Given the description of an element on the screen output the (x, y) to click on. 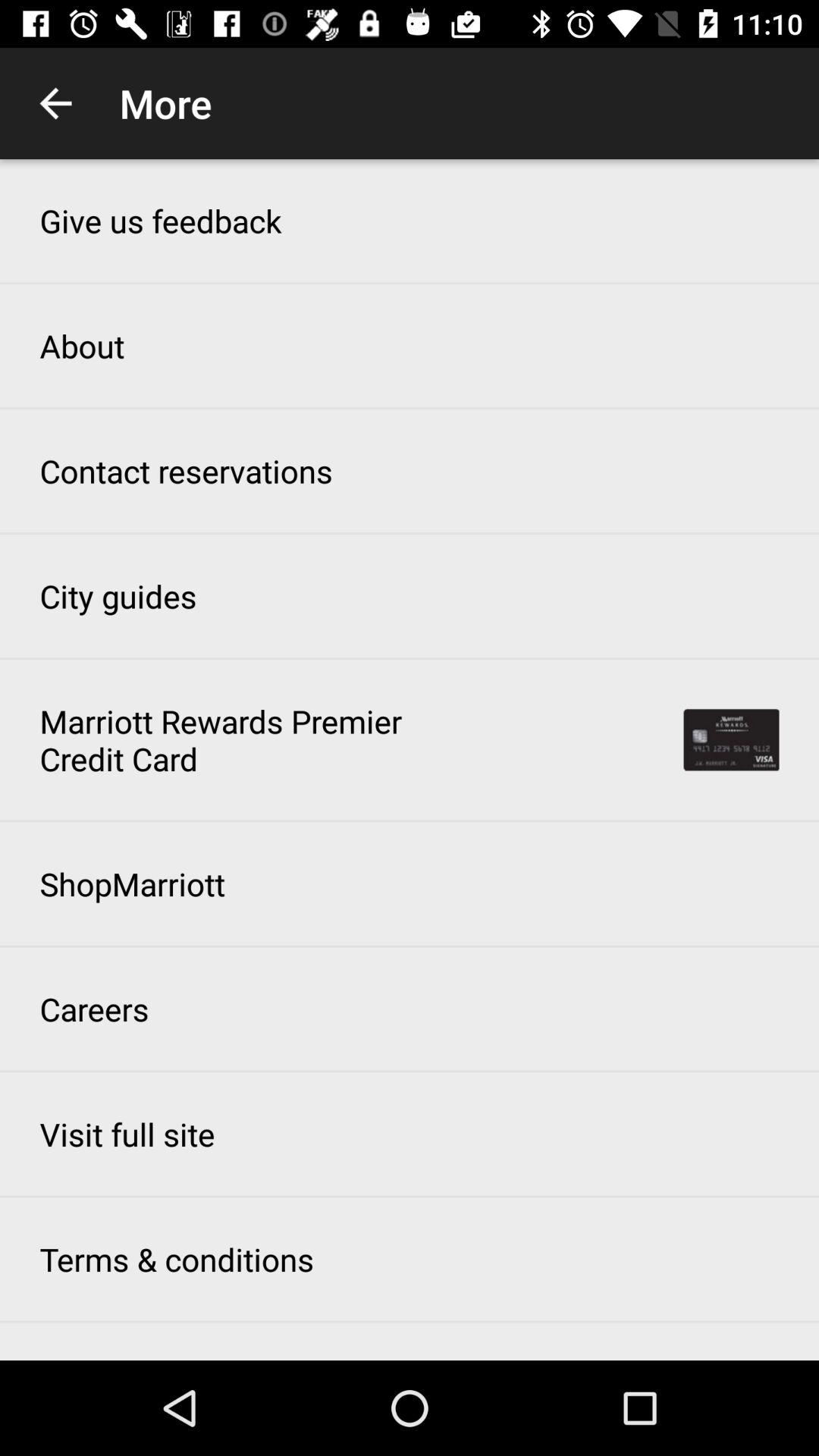
launch app to the left of the more icon (55, 103)
